Given the description of an element on the screen output the (x, y) to click on. 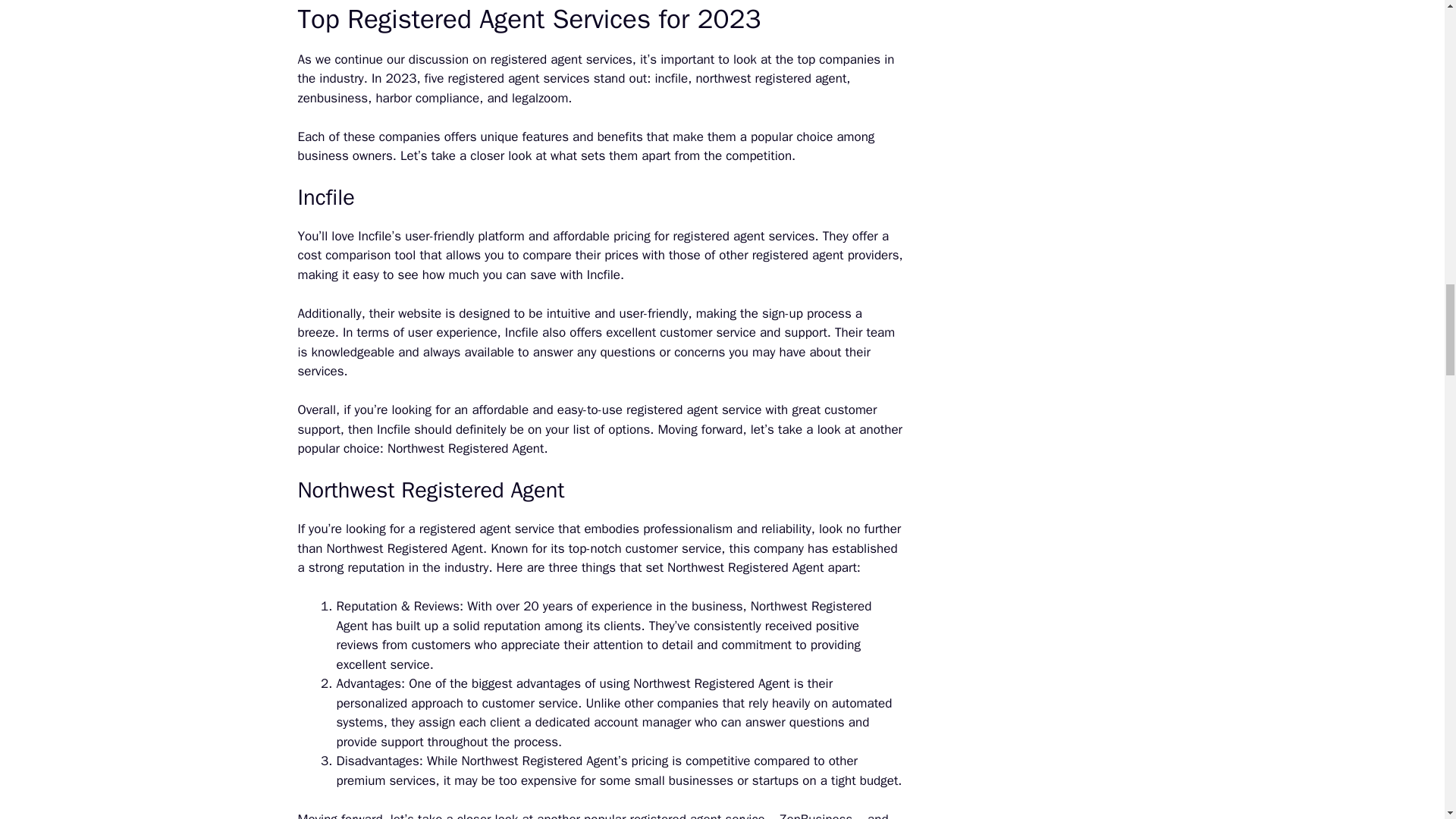
ZenBusiness Review - Make the Most of LLC Formation Services (332, 97)
incfile (670, 78)
legalzoom (539, 97)
harbor compliance (427, 97)
northwest registered agent (770, 78)
Incfile Review: Pros and Cons of LLC Formation in 2024 (670, 78)
zenbusiness (332, 97)
